Given the description of an element on the screen output the (x, y) to click on. 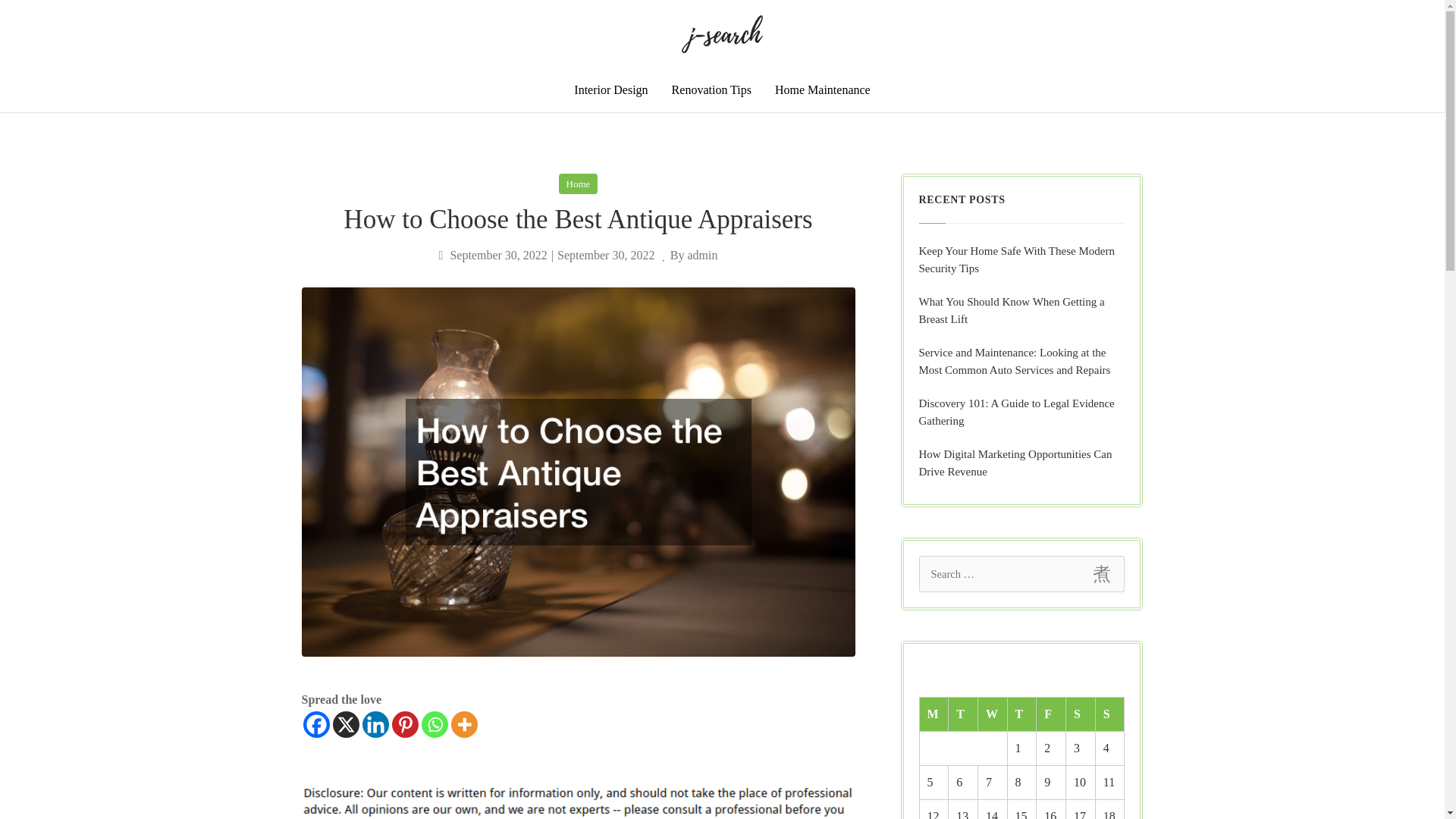
admin (702, 254)
Home Maintenance (822, 89)
What You Should Know When Getting a Breast Lift (1021, 311)
September 30, 2022September 30, 2022 (547, 255)
Whatsapp (435, 724)
More (463, 724)
Home Maintenance (822, 89)
Home (578, 183)
Renovation Tips (711, 89)
Search (1101, 573)
